Given the description of an element on the screen output the (x, y) to click on. 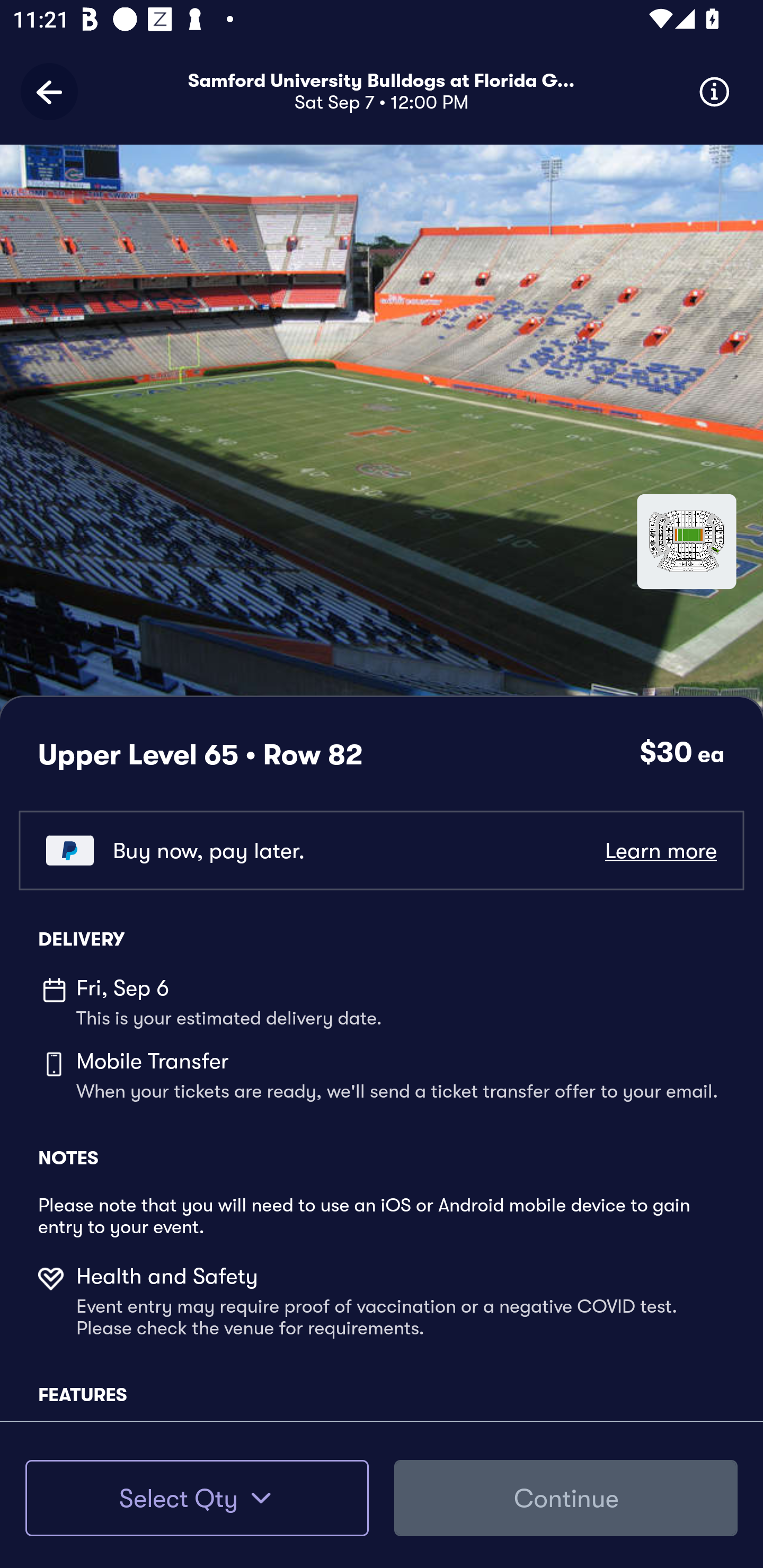
Learn more (660, 850)
Select Qty (196, 1497)
Continue (565, 1497)
